Given the description of an element on the screen output the (x, y) to click on. 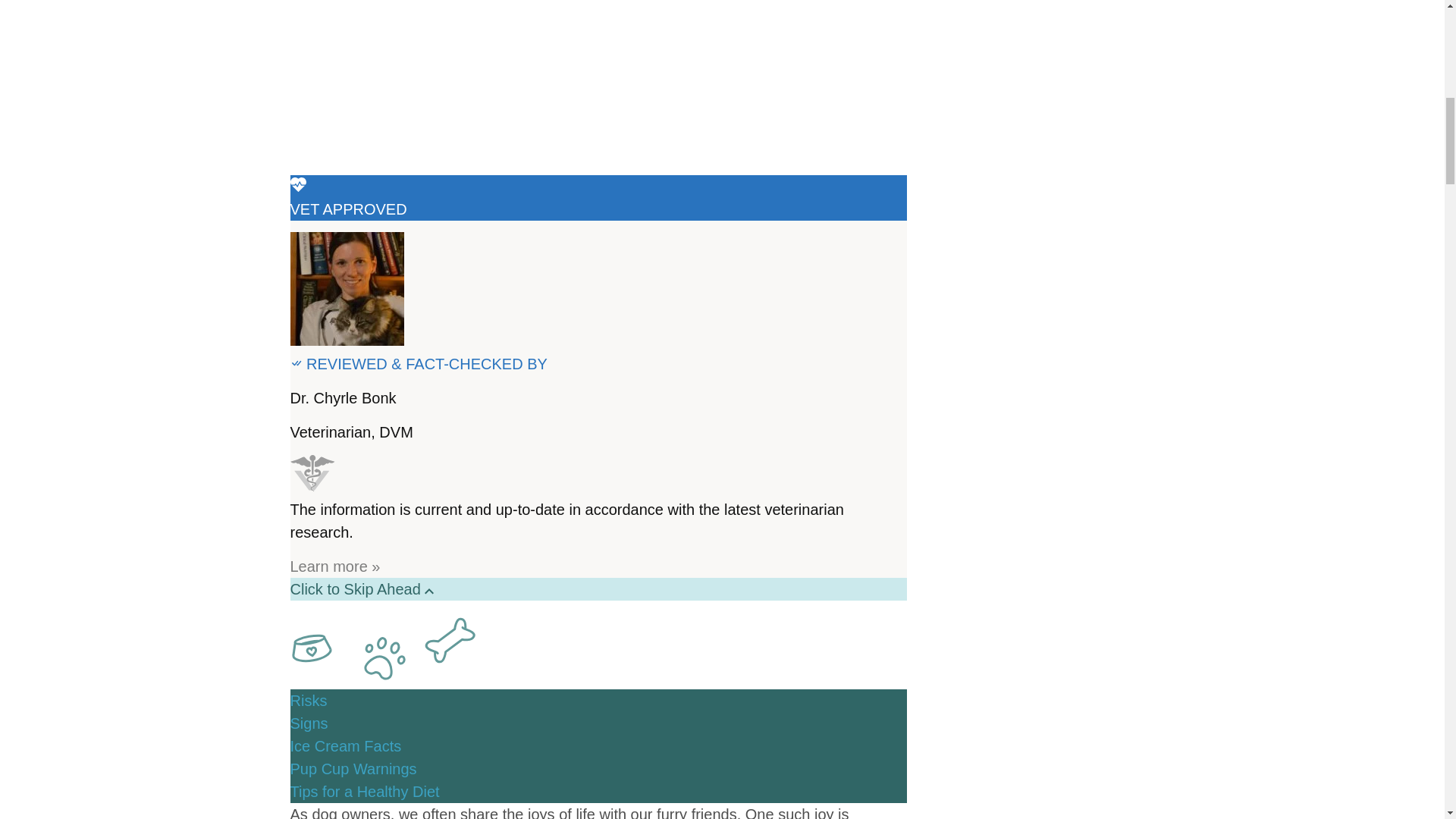
Ice Cream Facts (345, 745)
Risks (307, 700)
Dr. Chyrle Bonk (342, 397)
Signs (308, 723)
Pup Cup Warnings (352, 768)
Vet photo (346, 288)
Tips for a Healthy Diet (364, 791)
